Given the description of an element on the screen output the (x, y) to click on. 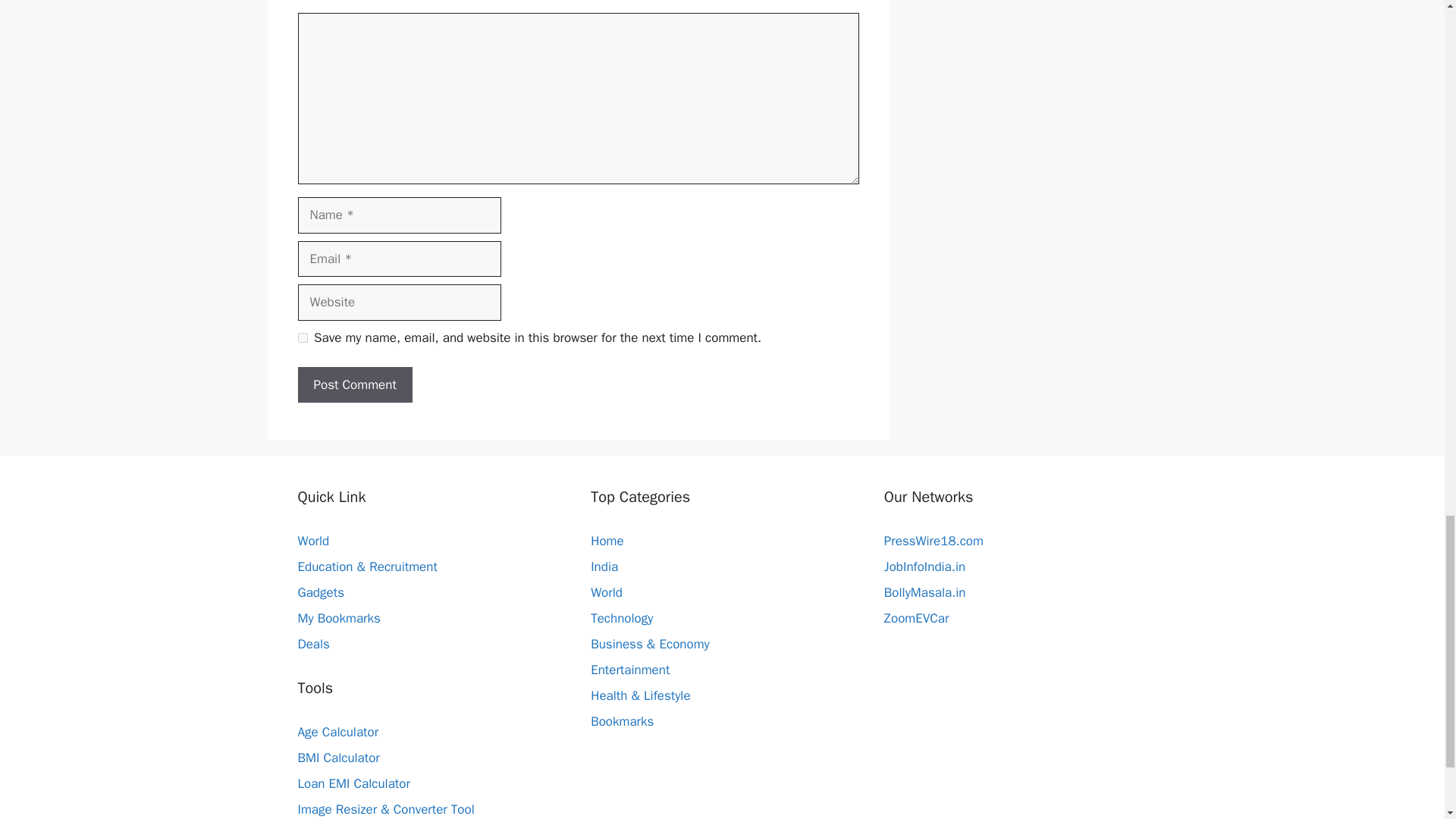
Loan EMI Calculator (353, 783)
Deals (313, 643)
Gadgets (320, 592)
World (607, 592)
India (604, 566)
Home (607, 540)
My Bookmarks (338, 618)
Age Calculator (337, 731)
World (313, 540)
yes (302, 337)
